Given the description of an element on the screen output the (x, y) to click on. 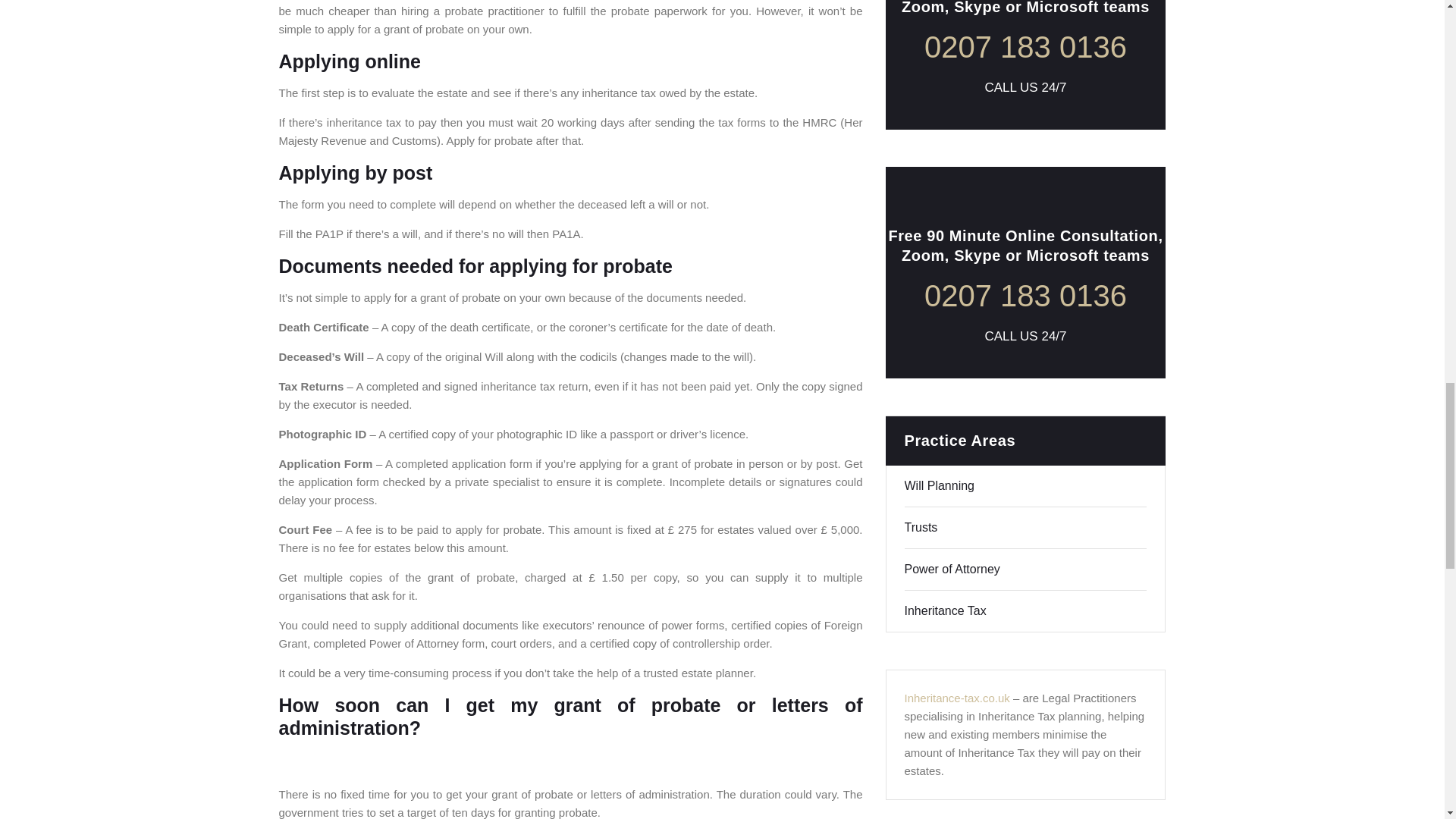
Subscribe (1103, 775)
